Given the description of an element on the screen output the (x, y) to click on. 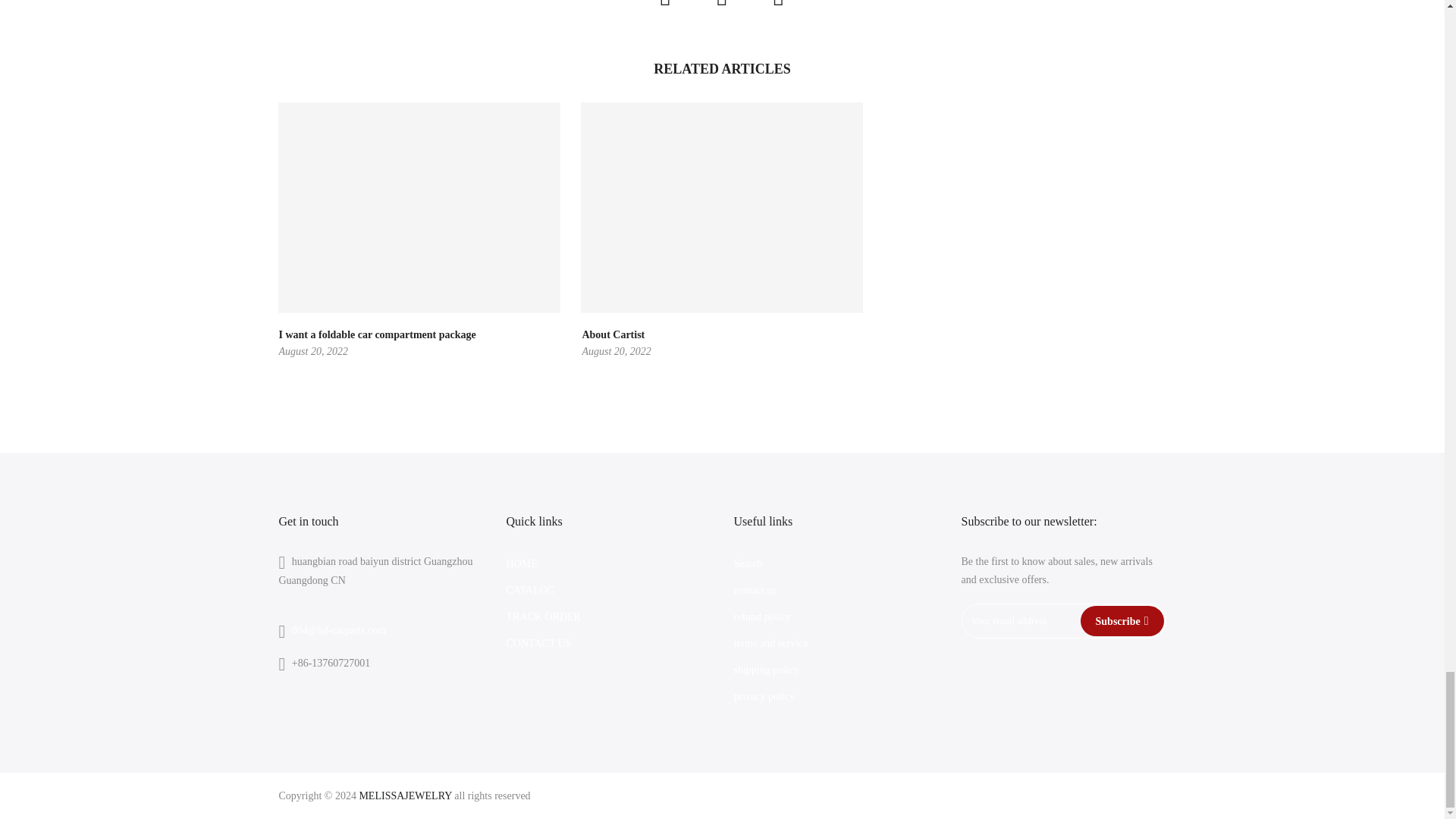
terms and service (770, 643)
contact us (754, 590)
privacy policy (763, 696)
CATALOG (530, 590)
TRACK ORDER (543, 616)
refund policy (761, 616)
About Cartist (612, 334)
HOME (521, 563)
I want a foldable car compartment package (377, 334)
Search (747, 563)
shipping policy (766, 669)
Subscribe (1121, 621)
CONTACT US (539, 643)
